Given the description of an element on the screen output the (x, y) to click on. 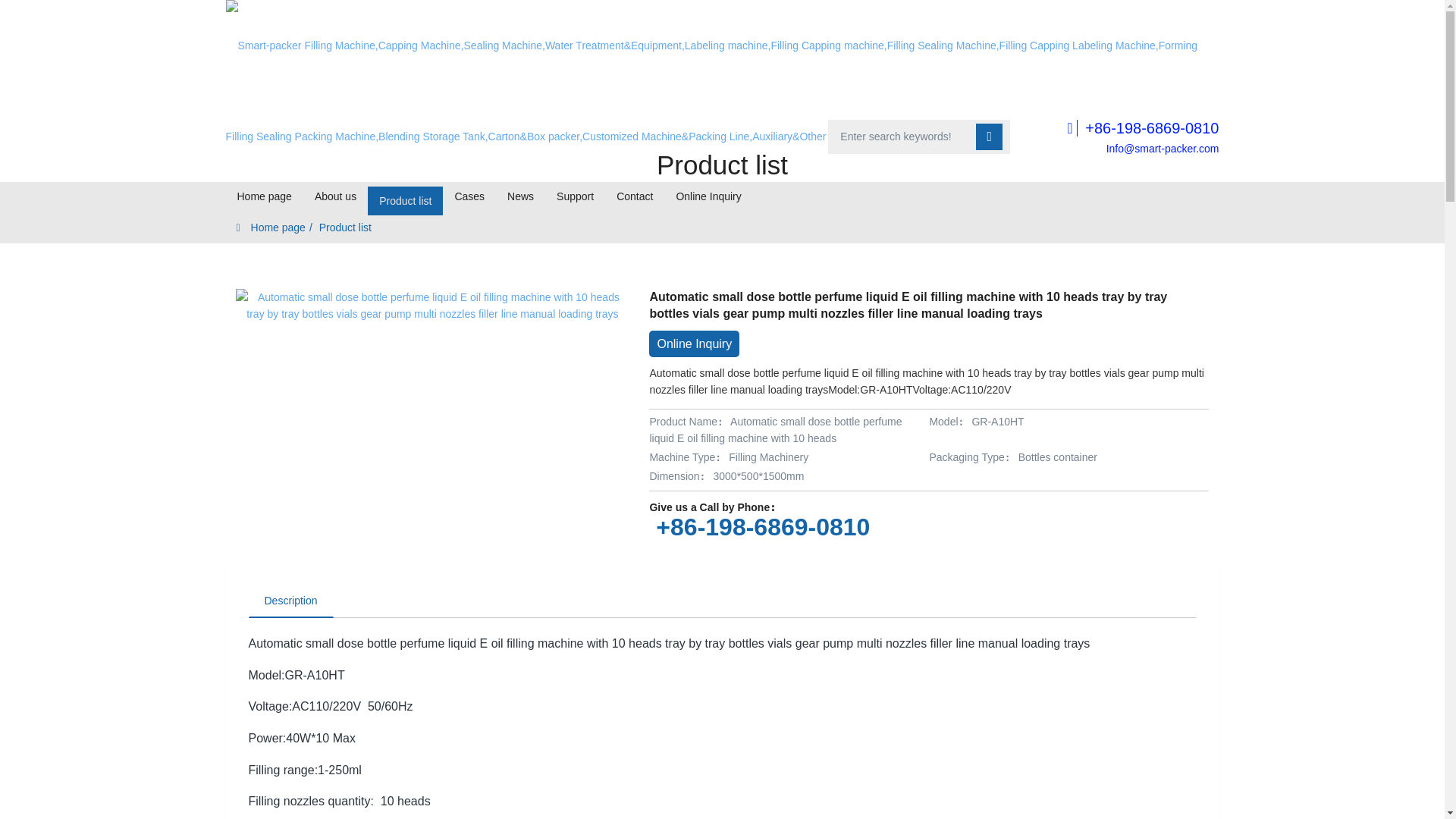
Product list (405, 195)
Home page (263, 195)
Cases (469, 195)
Product list (405, 195)
Support (574, 195)
News (520, 195)
About us (335, 195)
Home page (263, 195)
About us (335, 195)
